Given the description of an element on the screen output the (x, y) to click on. 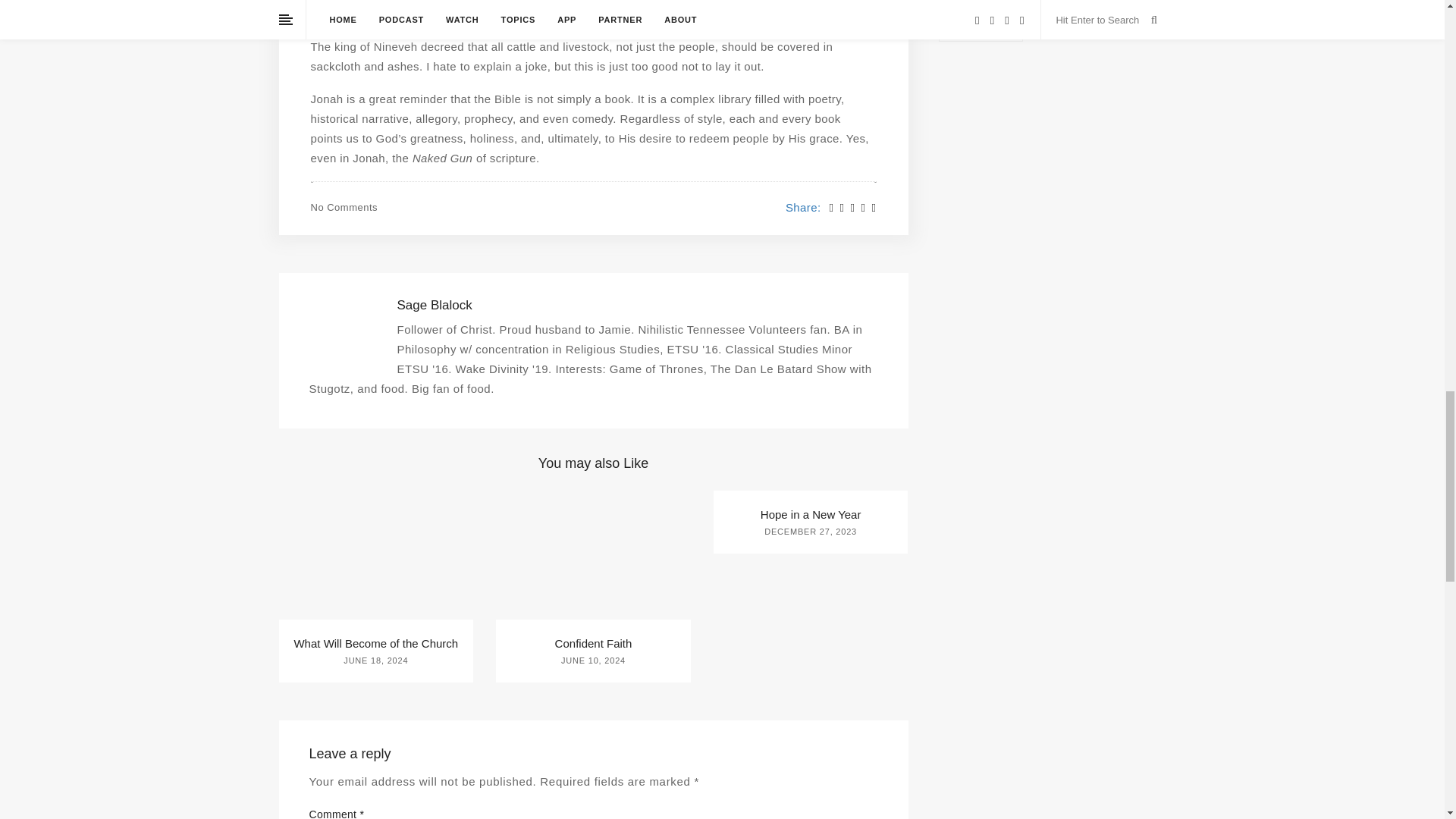
Share On Email (874, 207)
Link to What Will Become of the Church (376, 643)
Share On Pinterest (853, 207)
Share On Twitter (842, 207)
Link to Confident Faith (592, 643)
Link to Hope in a New Year (810, 513)
Share On Facebook (831, 207)
